Given the description of an element on the screen output the (x, y) to click on. 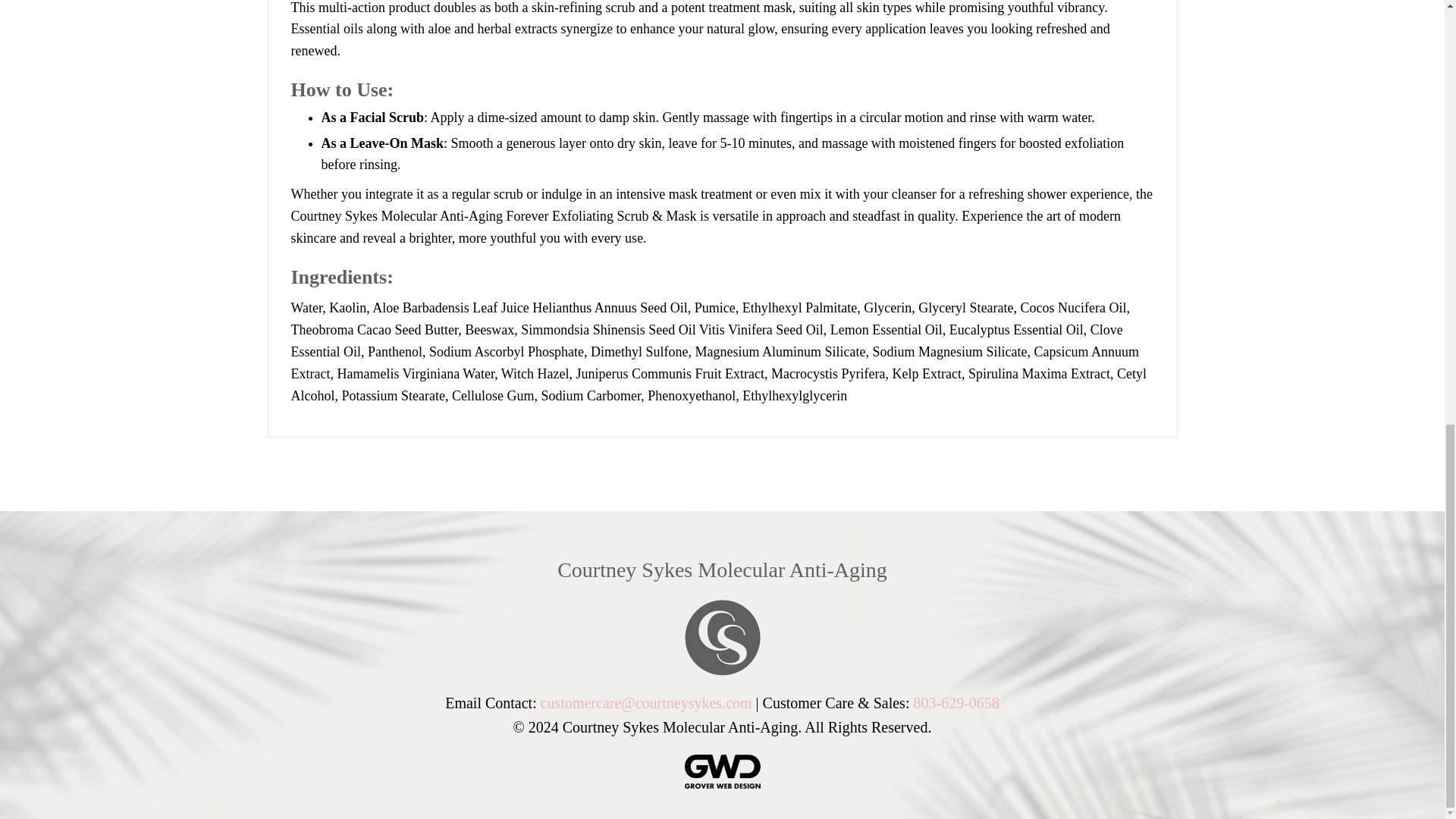
Courtney Sykes Molecular Anti-Aging (721, 569)
Gwd-logo (722, 769)
Fav-Icon (722, 635)
